Given the description of an element on the screen output the (x, y) to click on. 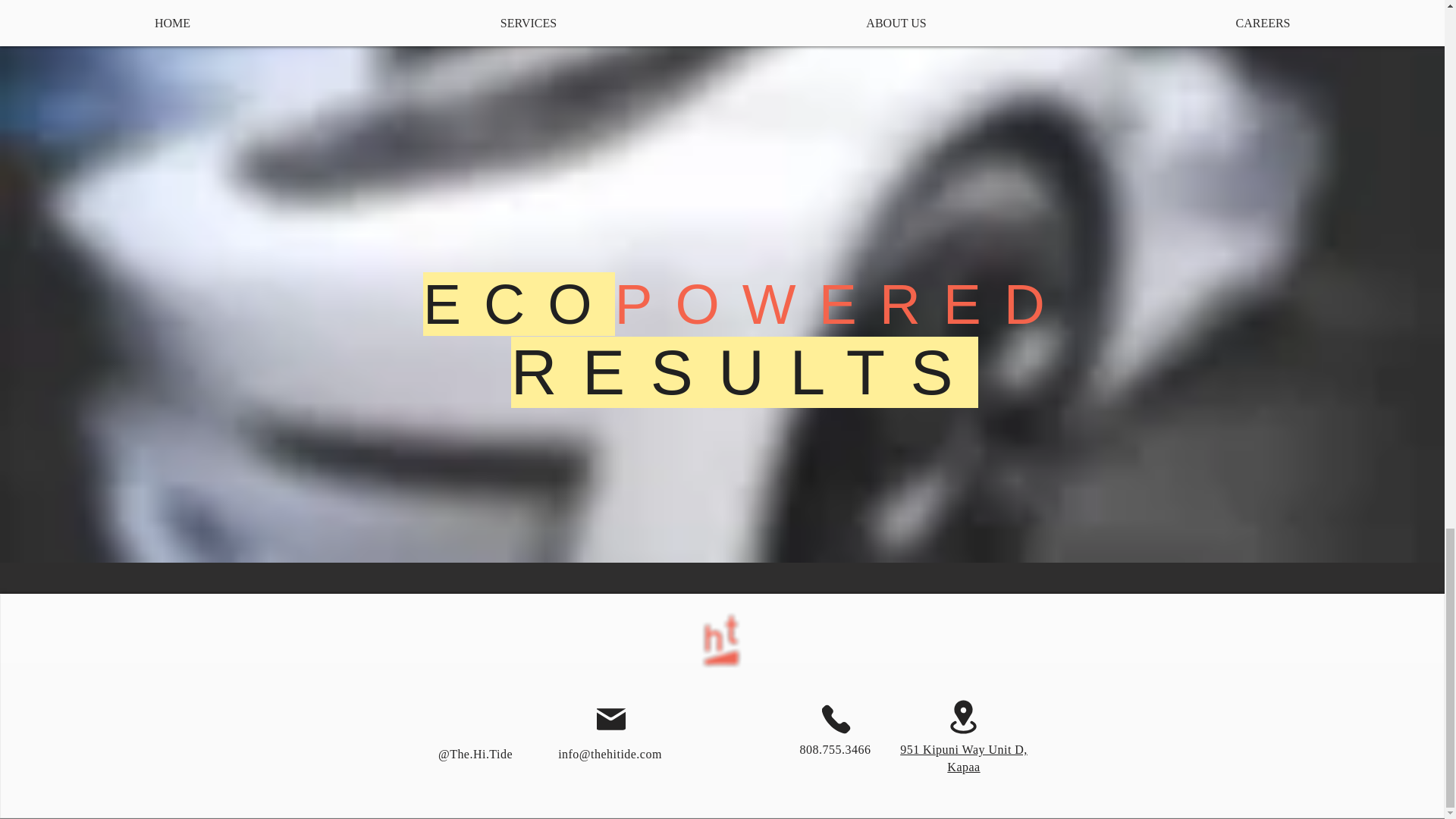
951 Kipuni Way Unit D, Kapaa (963, 757)
808.755.3466  (834, 757)
Go back to homepage (721, 640)
